Given the description of an element on the screen output the (x, y) to click on. 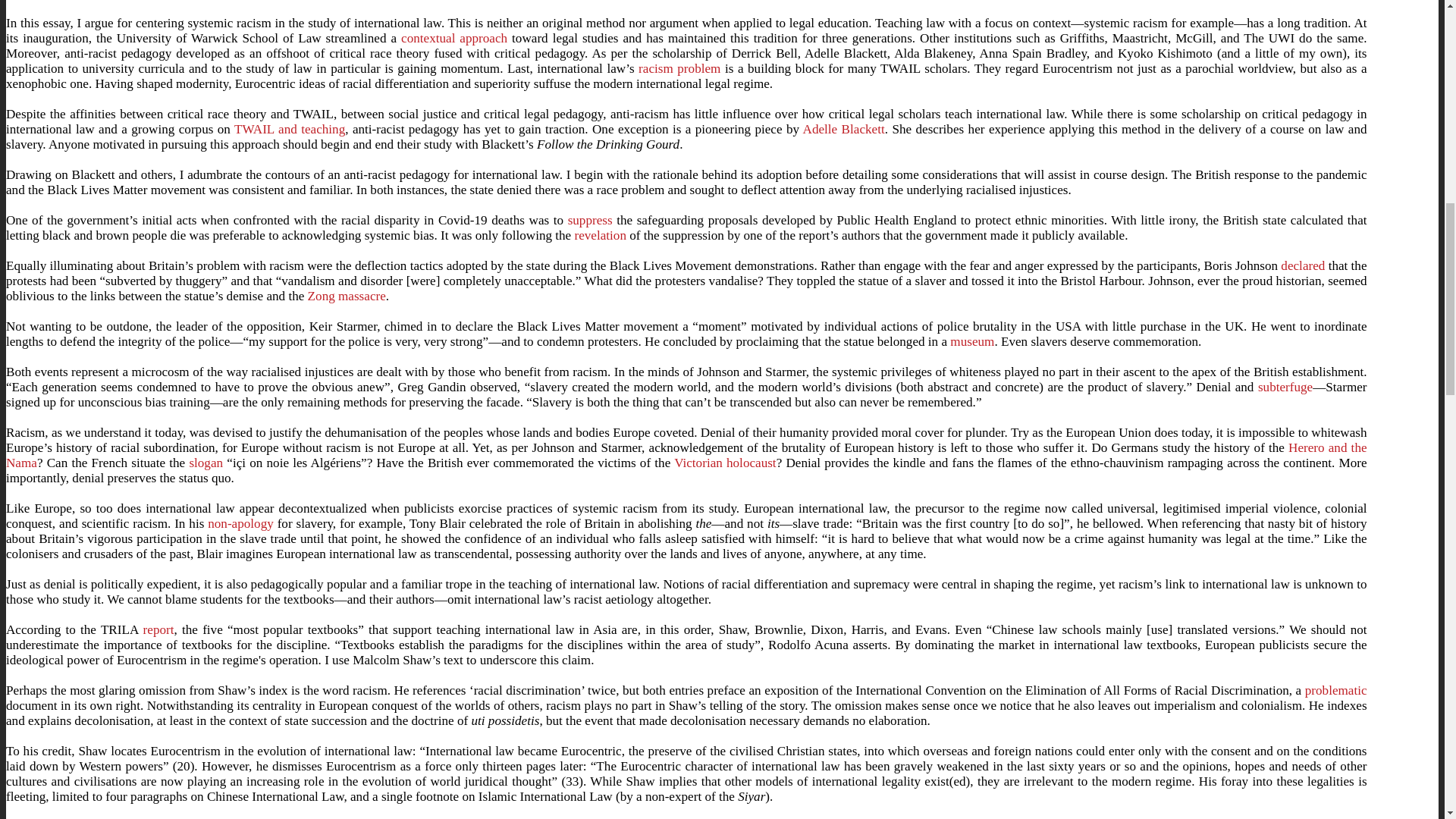
museum (972, 341)
Adelle Blackett (844, 129)
Zong massacre (346, 296)
suppress (589, 219)
revelation (600, 235)
TWAIL and teaching (289, 129)
contextual approach (453, 38)
declared (1302, 265)
racism problem (679, 68)
